Given the description of an element on the screen output the (x, y) to click on. 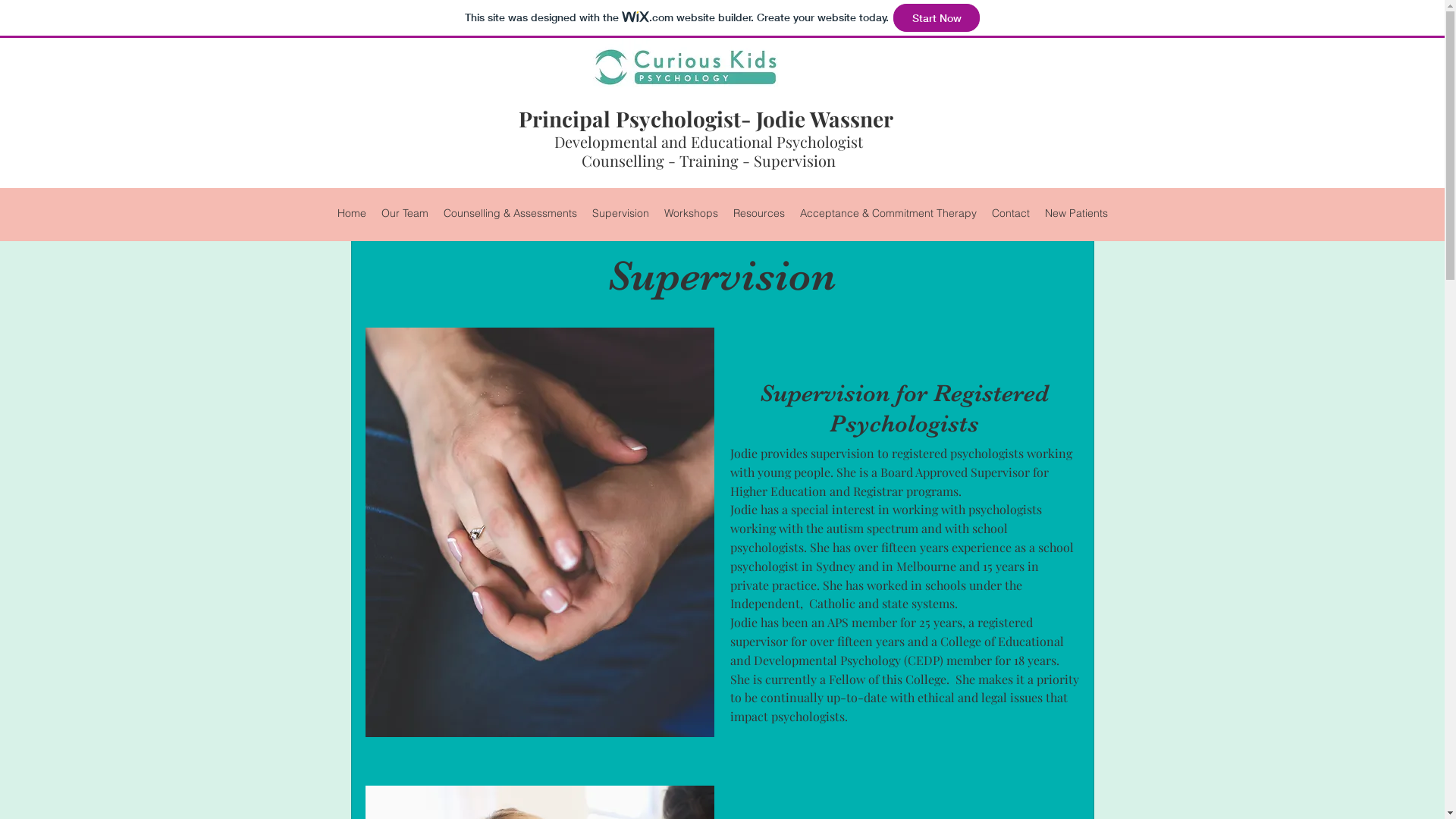
New Patients Element type: text (1076, 213)
Counselling & Assessments Element type: text (509, 213)
Acceptance & Commitment Therapy Element type: text (887, 213)
Our Team Element type: text (404, 213)
Supervision Element type: text (619, 213)
Contact Element type: text (1010, 213)
Workshops Element type: text (690, 213)
Home Element type: text (351, 213)
Resources Element type: text (757, 213)
